Given the description of an element on the screen output the (x, y) to click on. 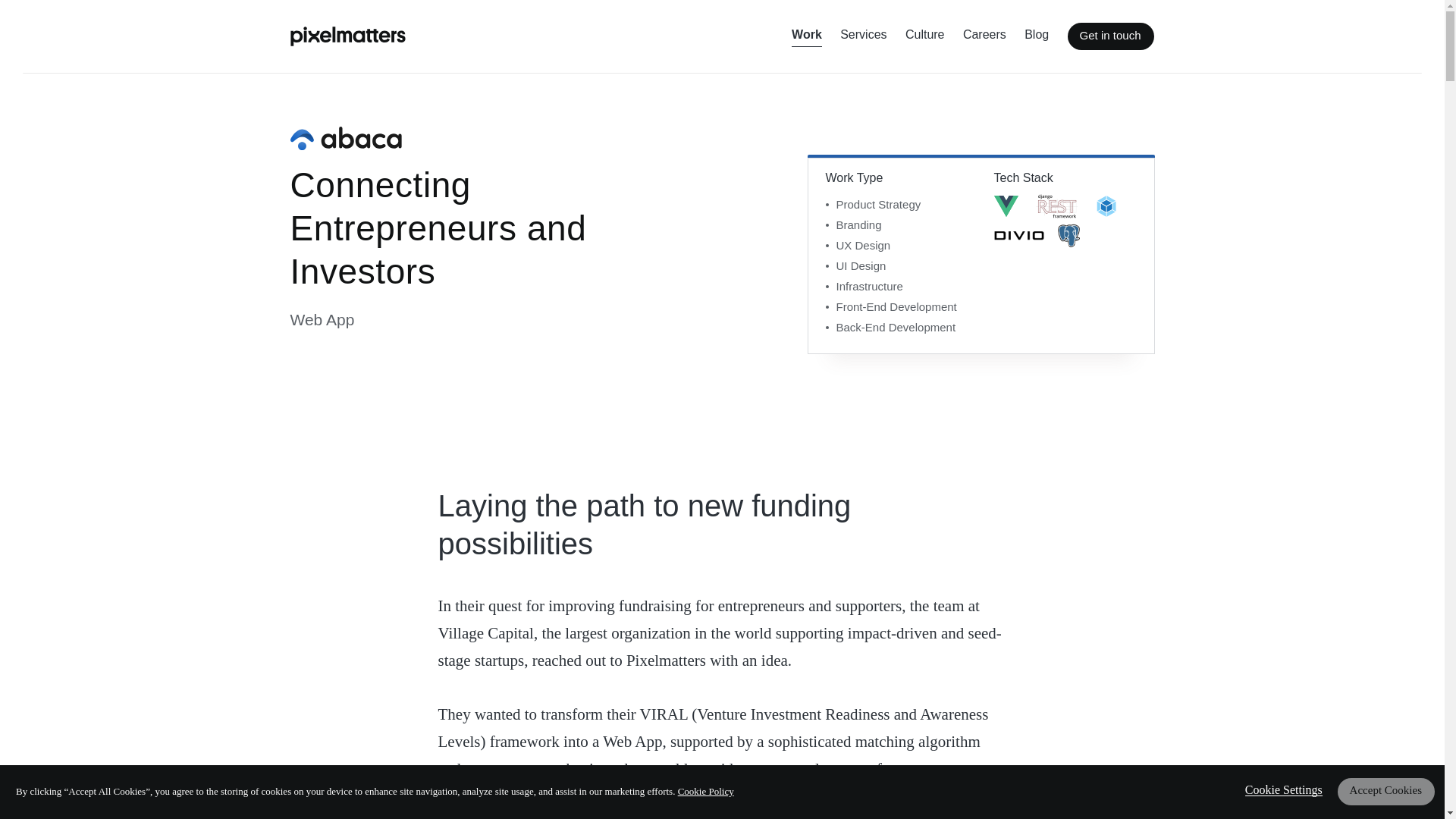
Careers (984, 35)
Accept Cookies (1386, 791)
Cookie Settings (1283, 790)
Accept Cookies (1386, 791)
Services (863, 35)
Culture (924, 35)
Cookie Settings (1283, 790)
Get in touch (1110, 35)
Cookie Policy (705, 790)
Work (807, 35)
Blog (1036, 35)
